Given the description of an element on the screen output the (x, y) to click on. 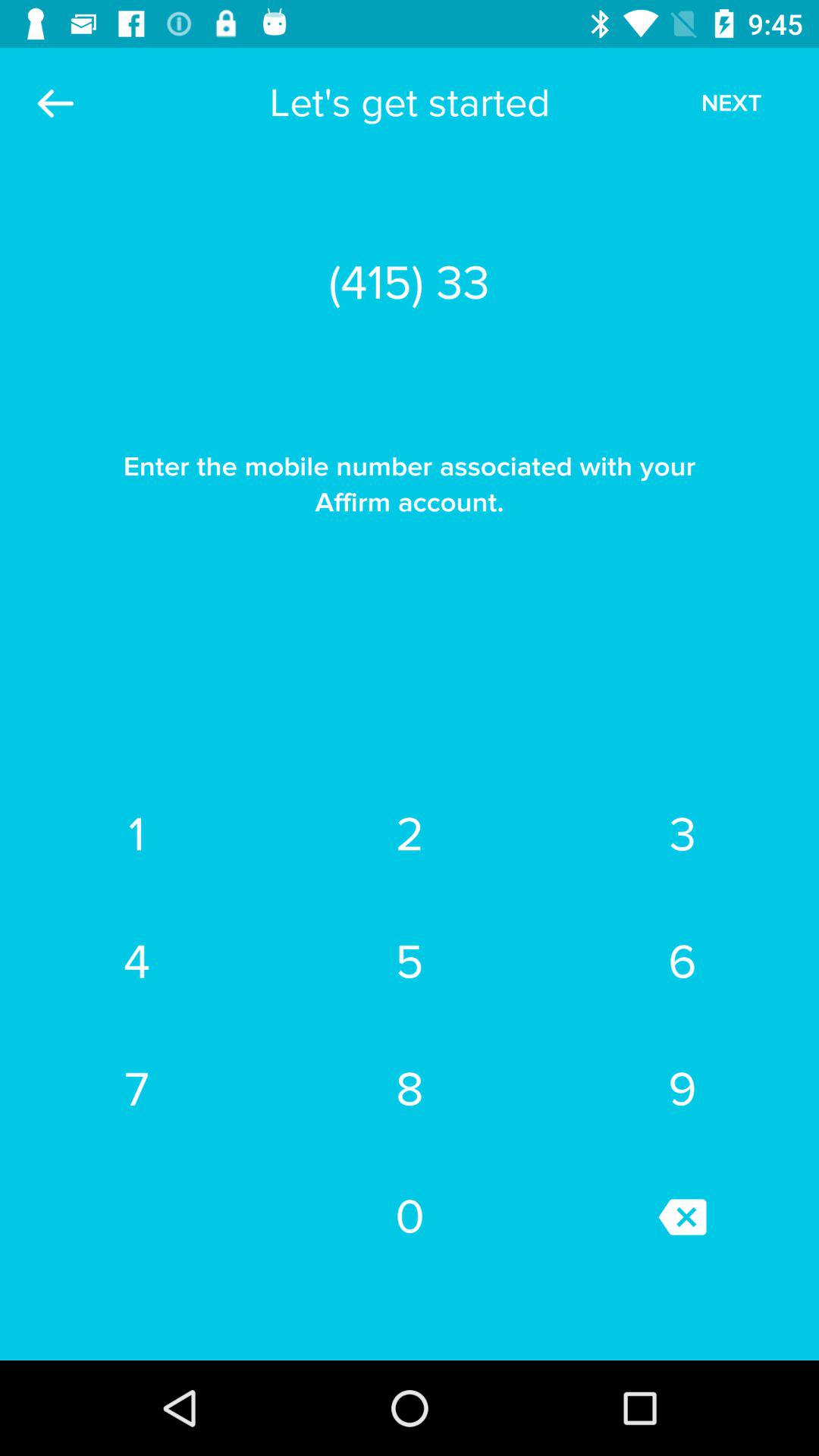
press the item above the enter the mobile (55, 103)
